Given the description of an element on the screen output the (x, y) to click on. 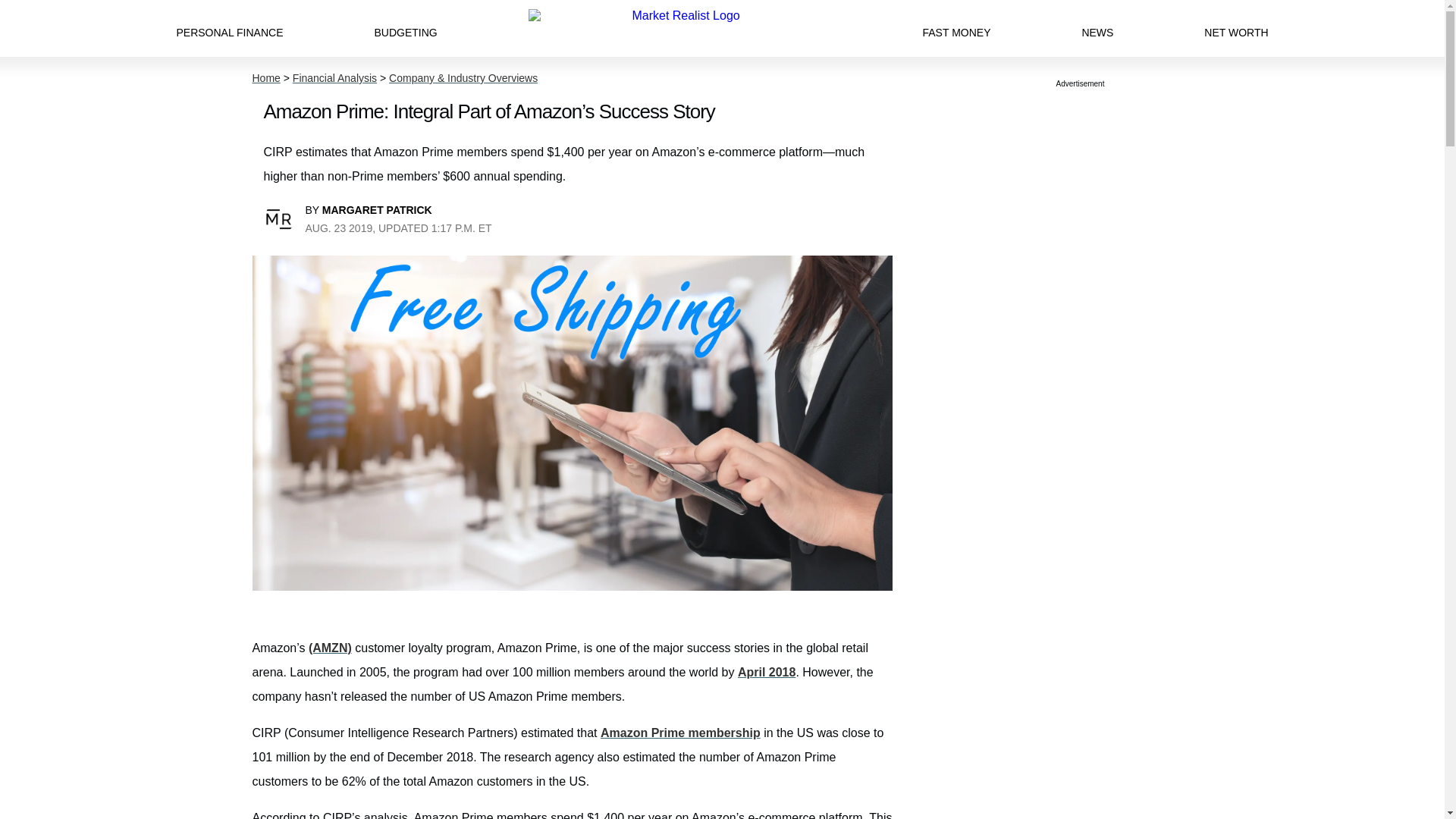
Home (265, 78)
PERSONAL FINANCE (229, 27)
NET WORTH (1236, 27)
NEWS (1097, 27)
Amazon Prime membership (679, 732)
Financial Analysis (334, 78)
MARGARET PATRICK (376, 209)
BUDGETING (405, 27)
FAST MONEY (955, 27)
April 2018 (766, 671)
